Given the description of an element on the screen output the (x, y) to click on. 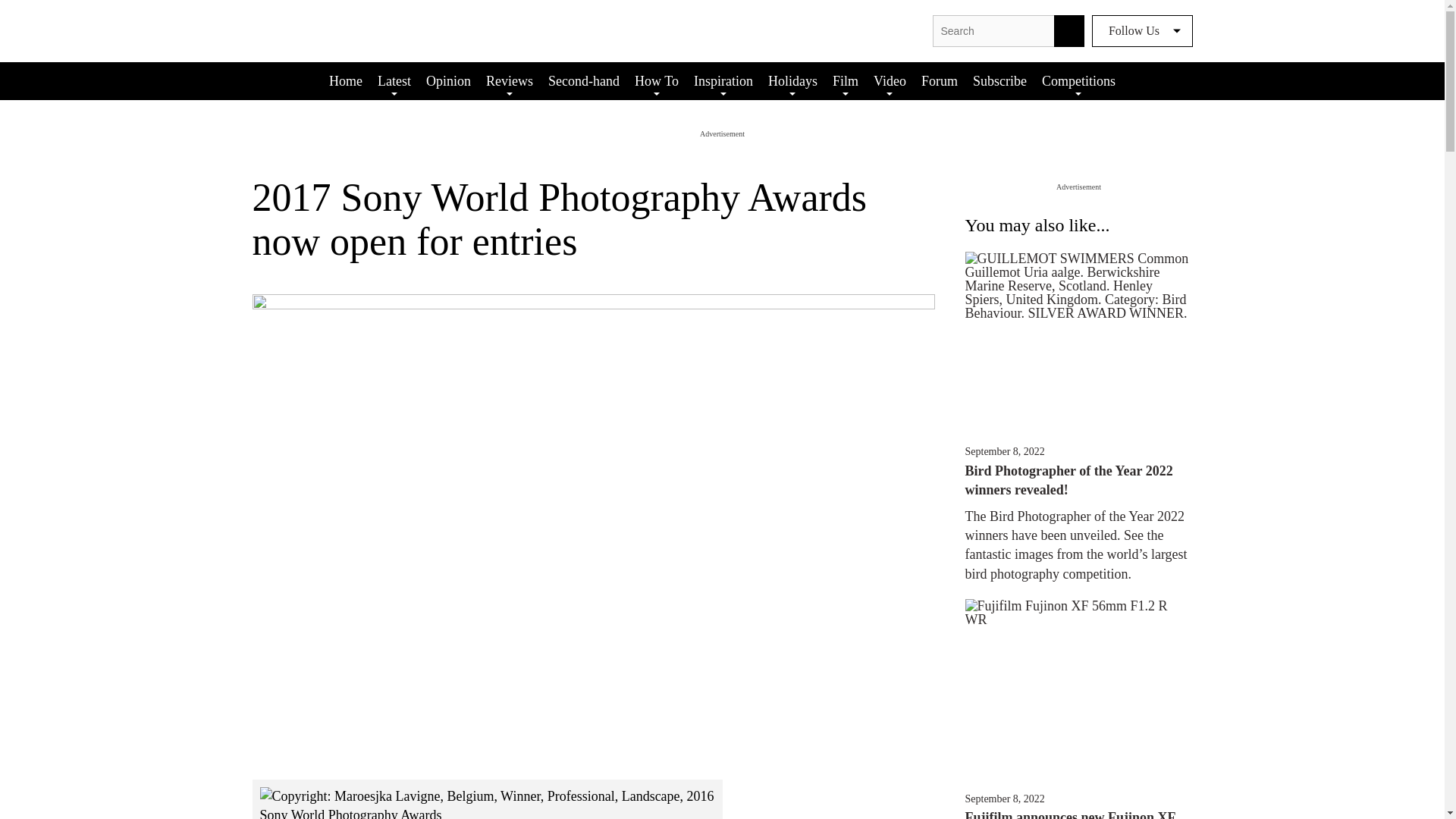
Inspiration (722, 80)
Search (1069, 30)
Opinion (449, 80)
How To (656, 80)
Second-hand (583, 80)
Holidays (792, 80)
Reviews (509, 80)
Home (345, 80)
Latest (394, 80)
Follow Us (1142, 30)
